Given the description of an element on the screen output the (x, y) to click on. 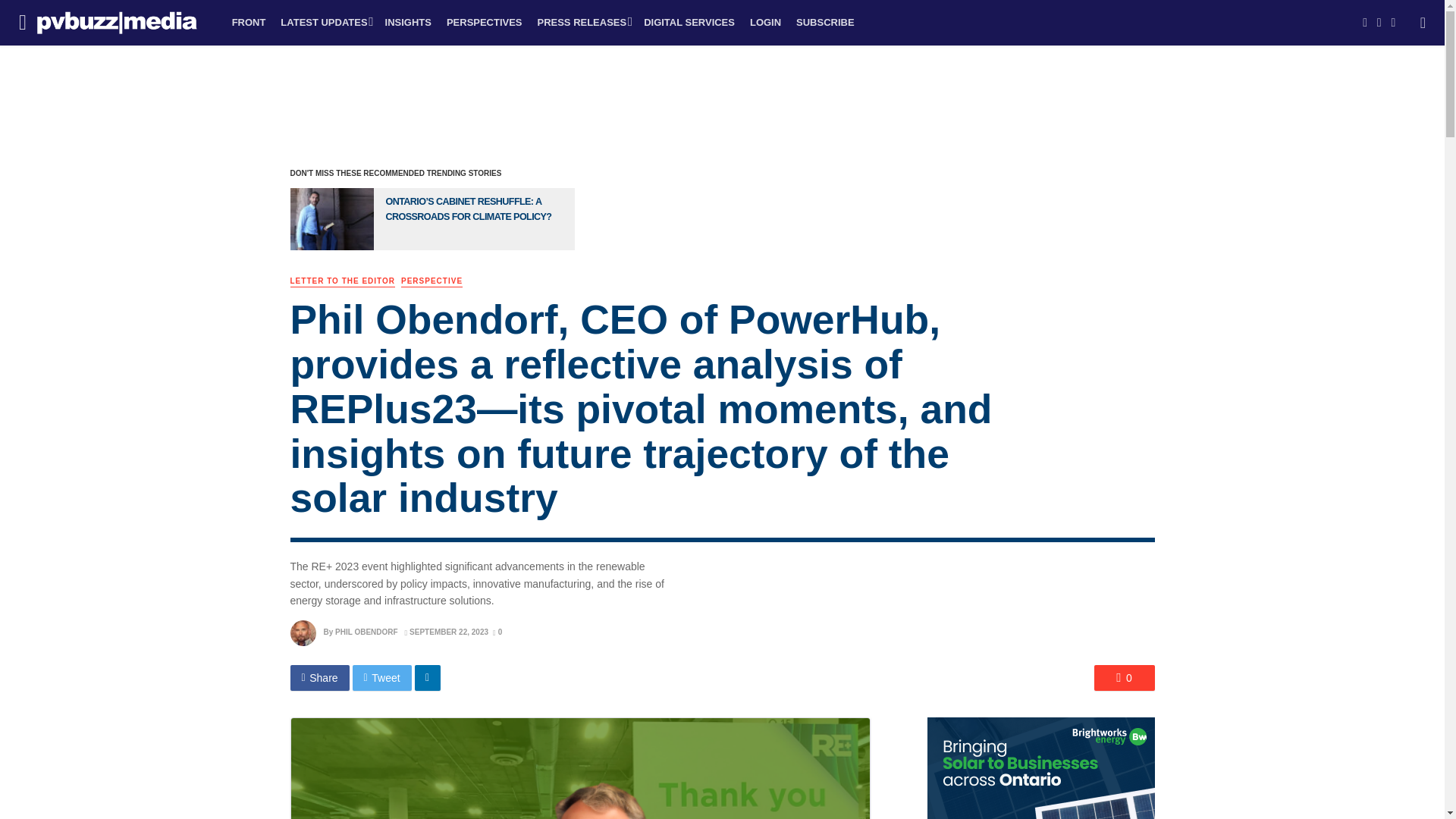
INSIGHTS (408, 22)
0 Comments (497, 632)
Share on Facebook (319, 678)
DIGITAL SERVICES (689, 22)
PERSPECTIVES (484, 22)
Share on Twitter (382, 678)
SUBSCRIBE (825, 22)
FRONT (248, 22)
LOGIN (765, 22)
LATEST UPDATES (325, 22)
